Given the description of an element on the screen output the (x, y) to click on. 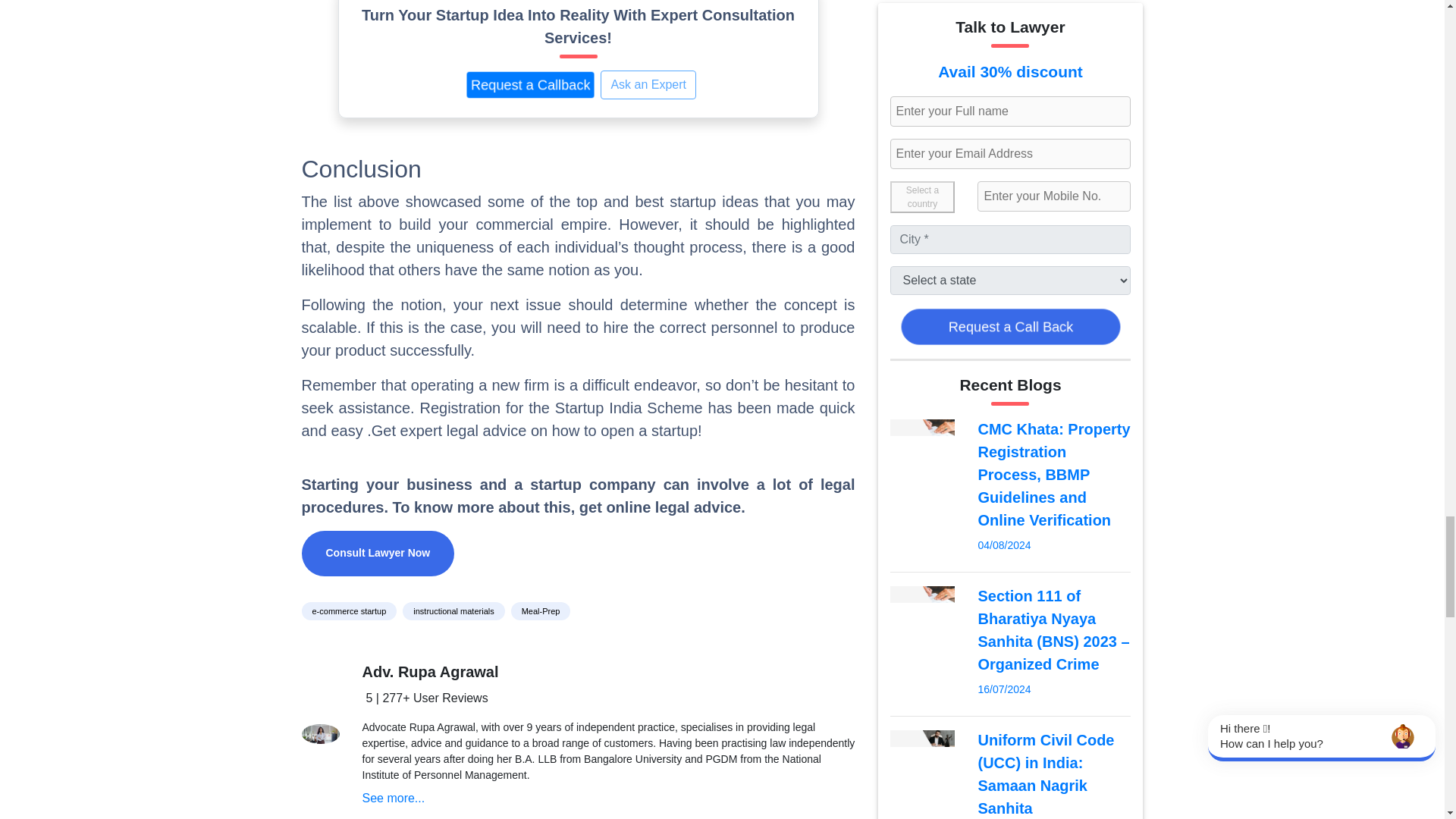
Meal-Prep (540, 610)
Meal-Prep (543, 609)
Request a Callback (547, 88)
e-commerce startup (352, 609)
e-commerce startup (349, 610)
See more... (393, 797)
instructional materials (453, 610)
instructional materials (457, 609)
Consult Lawyer Now (377, 553)
Consult Lawyer Now (377, 552)
